Given the description of an element on the screen output the (x, y) to click on. 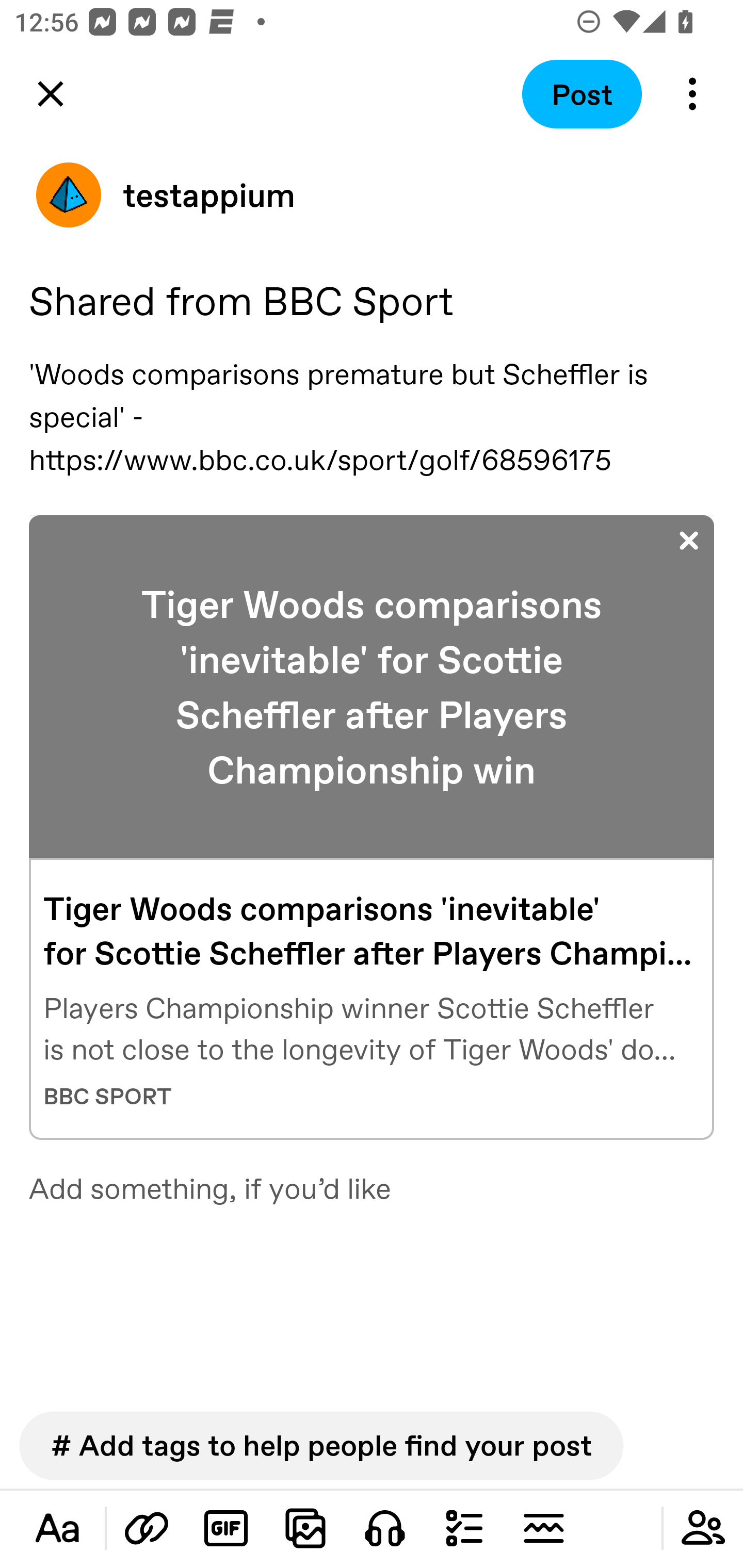
Navigate up (50, 93)
Post (581, 93)
Blog Selector testappium (371, 195)
Shared from BBC Sport (371, 300)
Add something, if you’d like (371, 1186)
# Add tags to help people find your post (320, 1445)
Add text to post (57, 1528)
Add text to post (146, 1528)
Add GIF to post (225, 1528)
Add Photo to post (305, 1528)
Add Audio to post (384, 1528)
Add Poll to post (463, 1528)
Add read-more link to post (543, 1528)
Add community label for post (703, 1528)
